Given the description of an element on the screen output the (x, y) to click on. 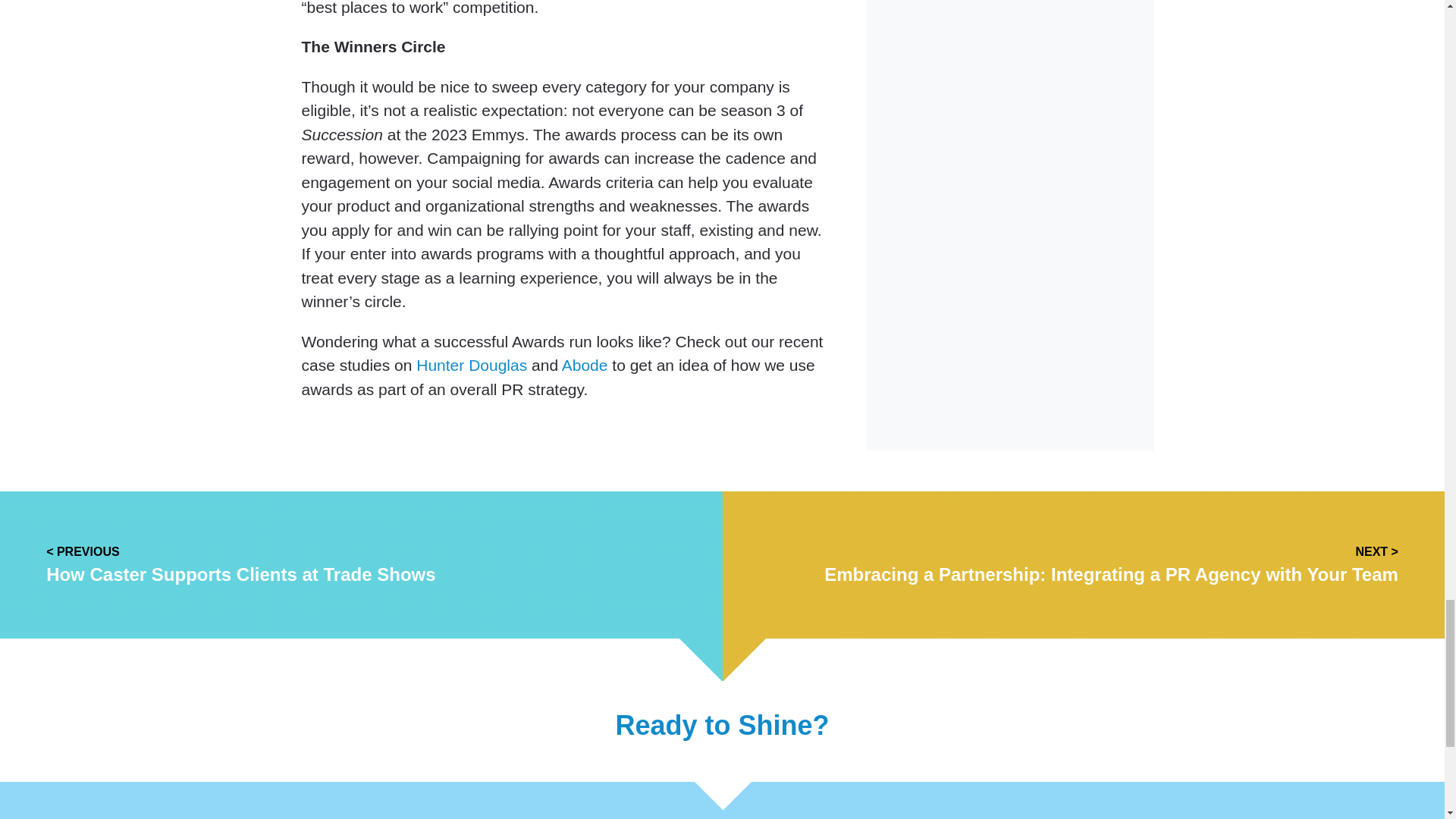
Abode (585, 364)
Hunter Douglas (471, 364)
